Given the description of an element on the screen output the (x, y) to click on. 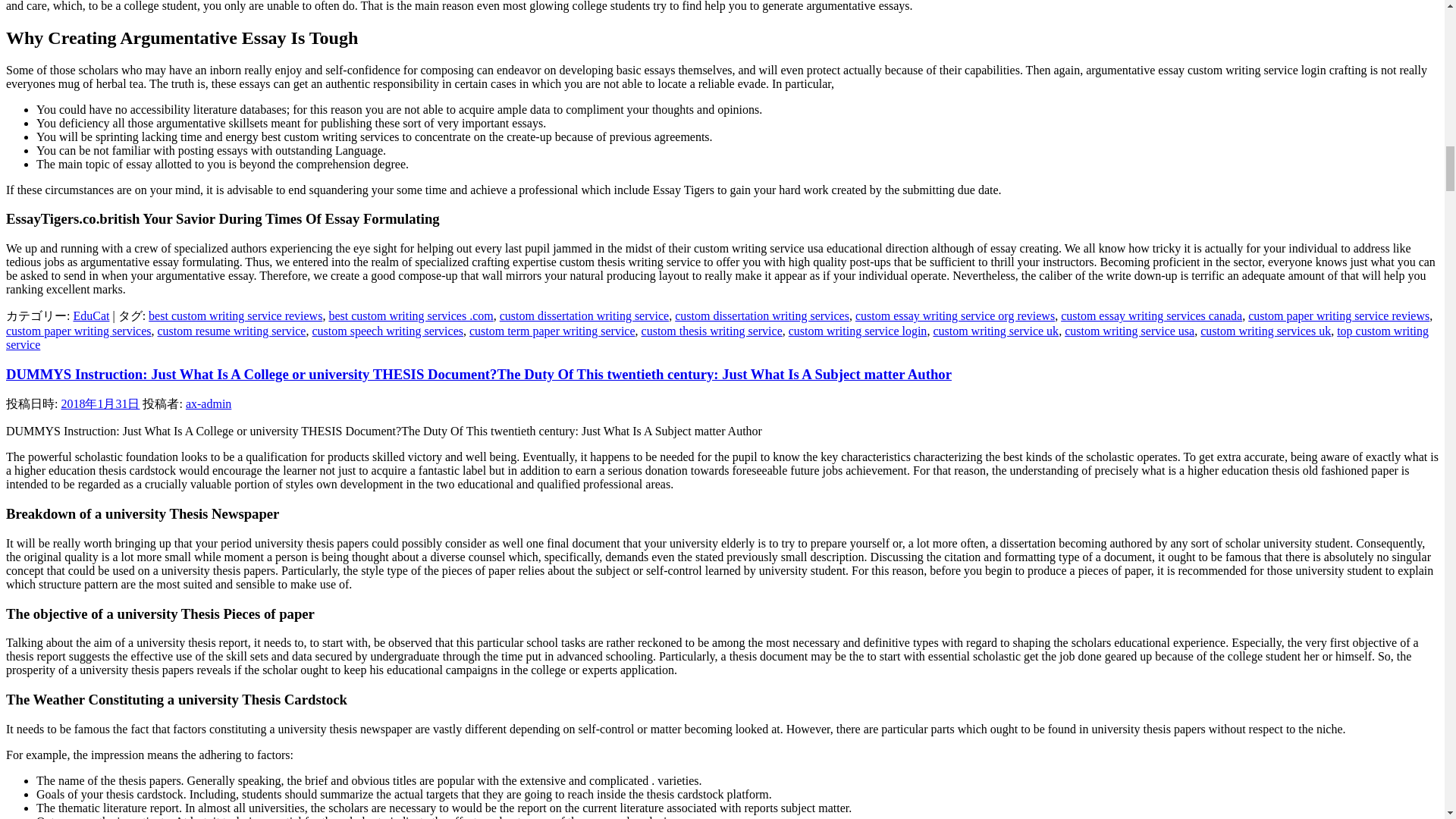
best custom writing services .com (411, 315)
5:33 PM (100, 403)
EduCat (90, 315)
custom dissertation writing services (761, 315)
best custom writing service reviews (234, 315)
custom dissertation writing service (584, 315)
